Given the description of an element on the screen output the (x, y) to click on. 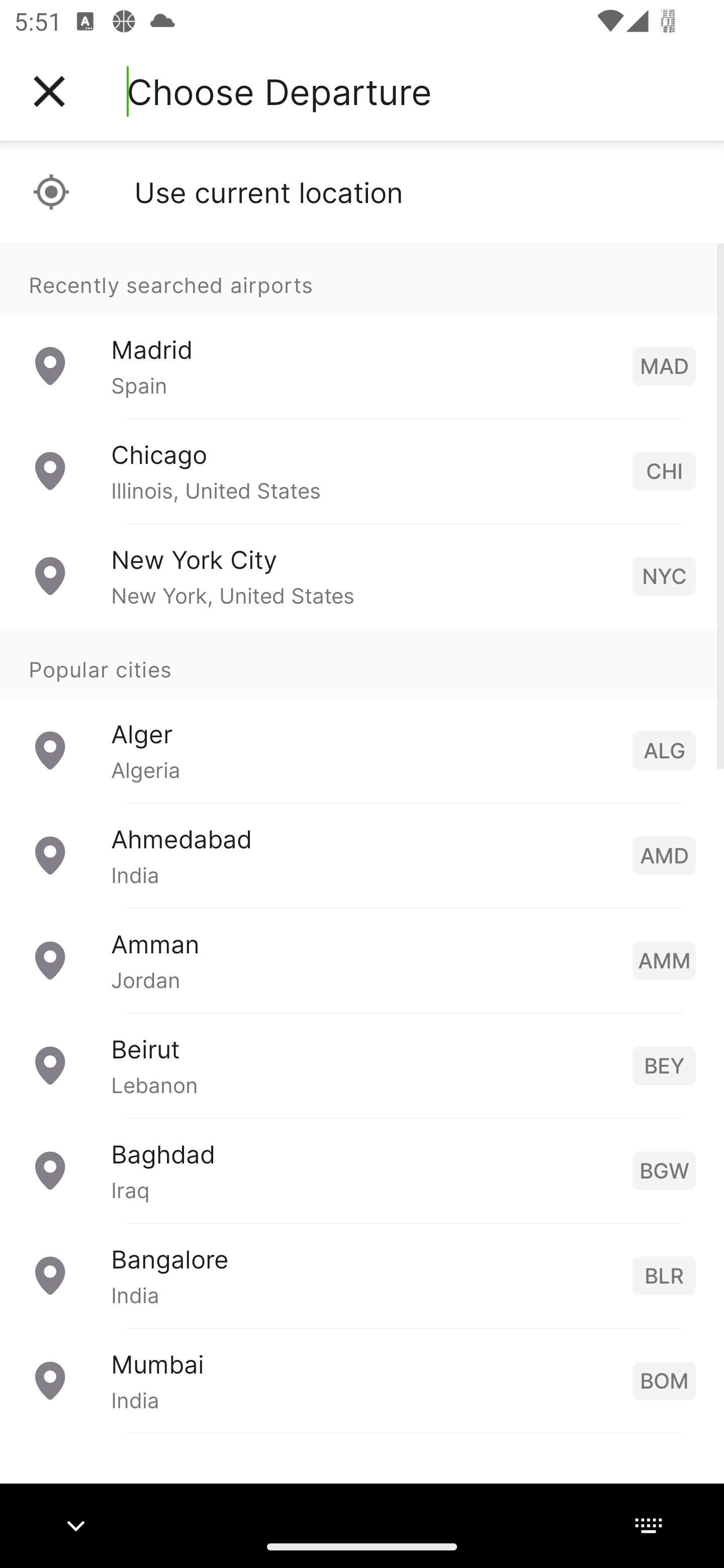
Choose Departure (279, 91)
Use current location (362, 192)
Recently searched airports Madrid Spain MAD (362, 330)
Recently searched airports (362, 278)
Chicago Illinois, United States CHI (362, 470)
New York City New York, United States NYC (362, 575)
Popular cities Alger Algeria ALG (362, 715)
Popular cities (362, 663)
Ahmedabad India AMD (362, 854)
Amman Jordan AMM (362, 959)
Beirut Lebanon BEY (362, 1064)
Baghdad Iraq BGW (362, 1170)
Bangalore India BLR (362, 1275)
Mumbai India BOM (362, 1380)
